Given the description of an element on the screen output the (x, y) to click on. 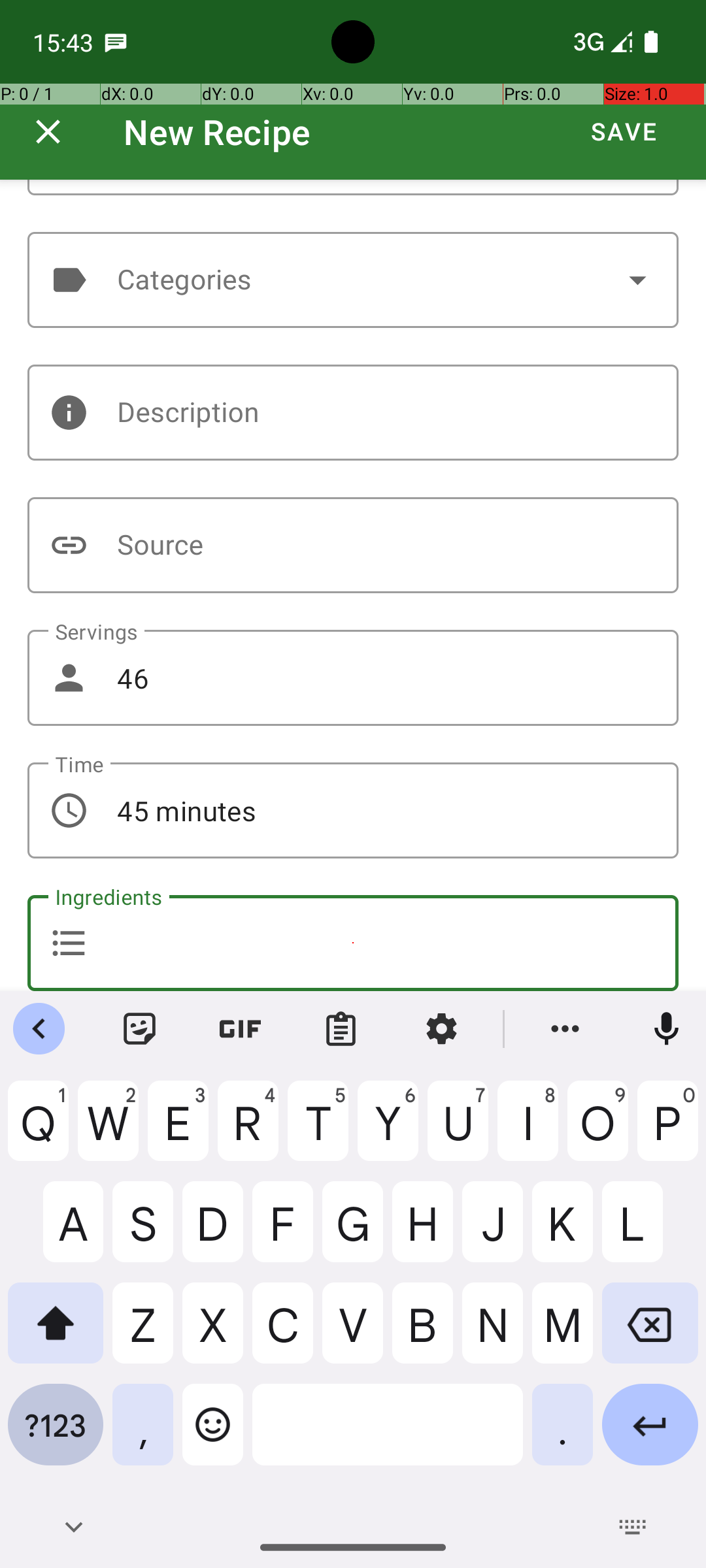
Title Element type: android.widget.EditText (352, 187)
Description Element type: android.widget.EditText (352, 412)
Source Element type: android.widget.EditText (352, 545)
46 Element type: android.widget.EditText (352, 677)
45 minutes Element type: android.widget.EditText (352, 810)
15:43 Element type: android.widget.TextView (64, 41)
